Given the description of an element on the screen output the (x, y) to click on. 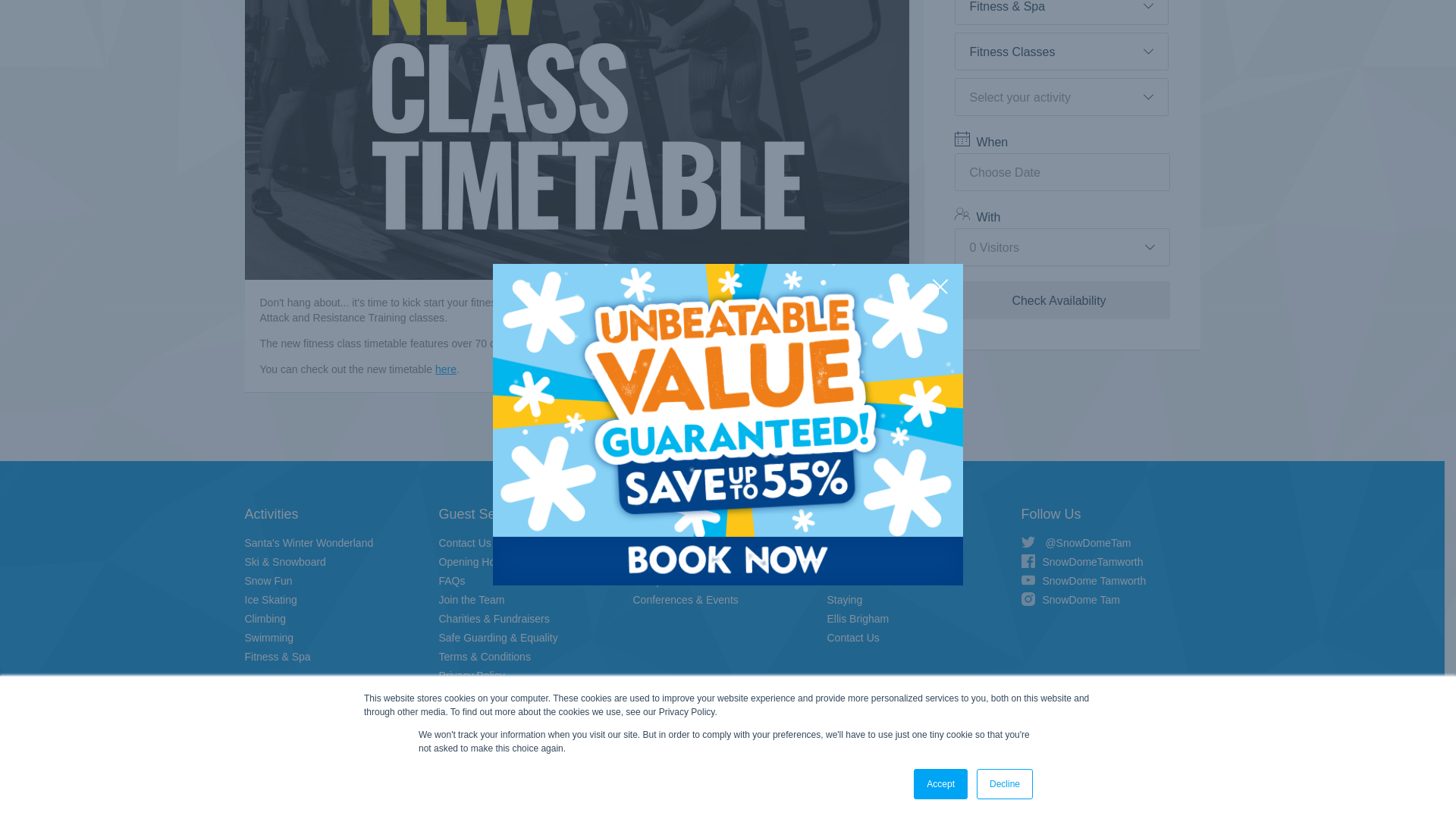
Accept (941, 363)
Class timetable (446, 369)
Decline (1004, 363)
